Given the description of an element on the screen output the (x, y) to click on. 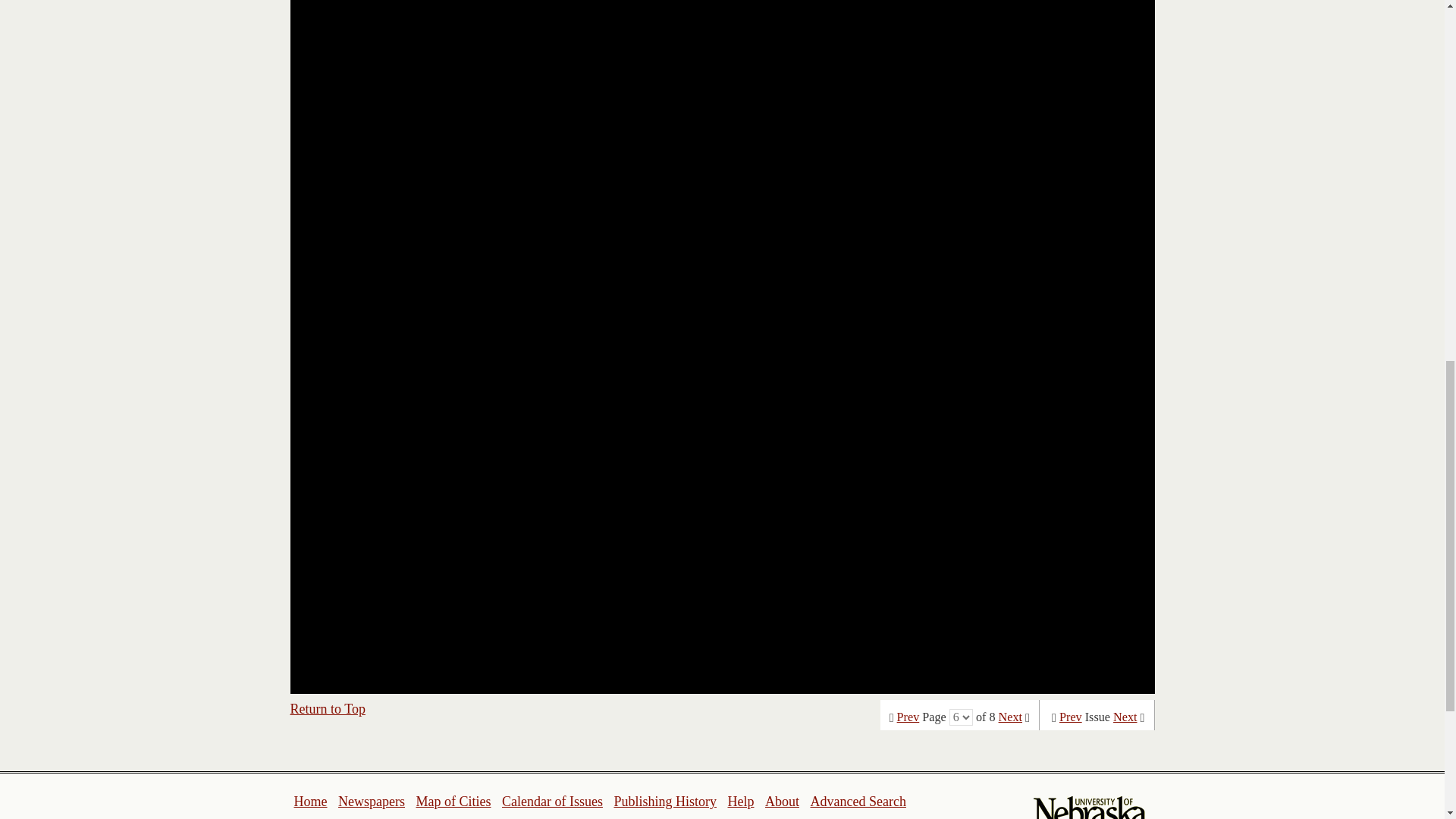
About (782, 801)
Next (1125, 716)
Home (310, 801)
Prev (1070, 716)
Publishing History (664, 801)
Advanced Search (857, 801)
Map of Cities (452, 801)
Prev (908, 716)
Next (1010, 716)
Calendar of Issues (552, 801)
Newspapers (370, 801)
Help (740, 801)
Return to Top (327, 708)
